Given the description of an element on the screen output the (x, y) to click on. 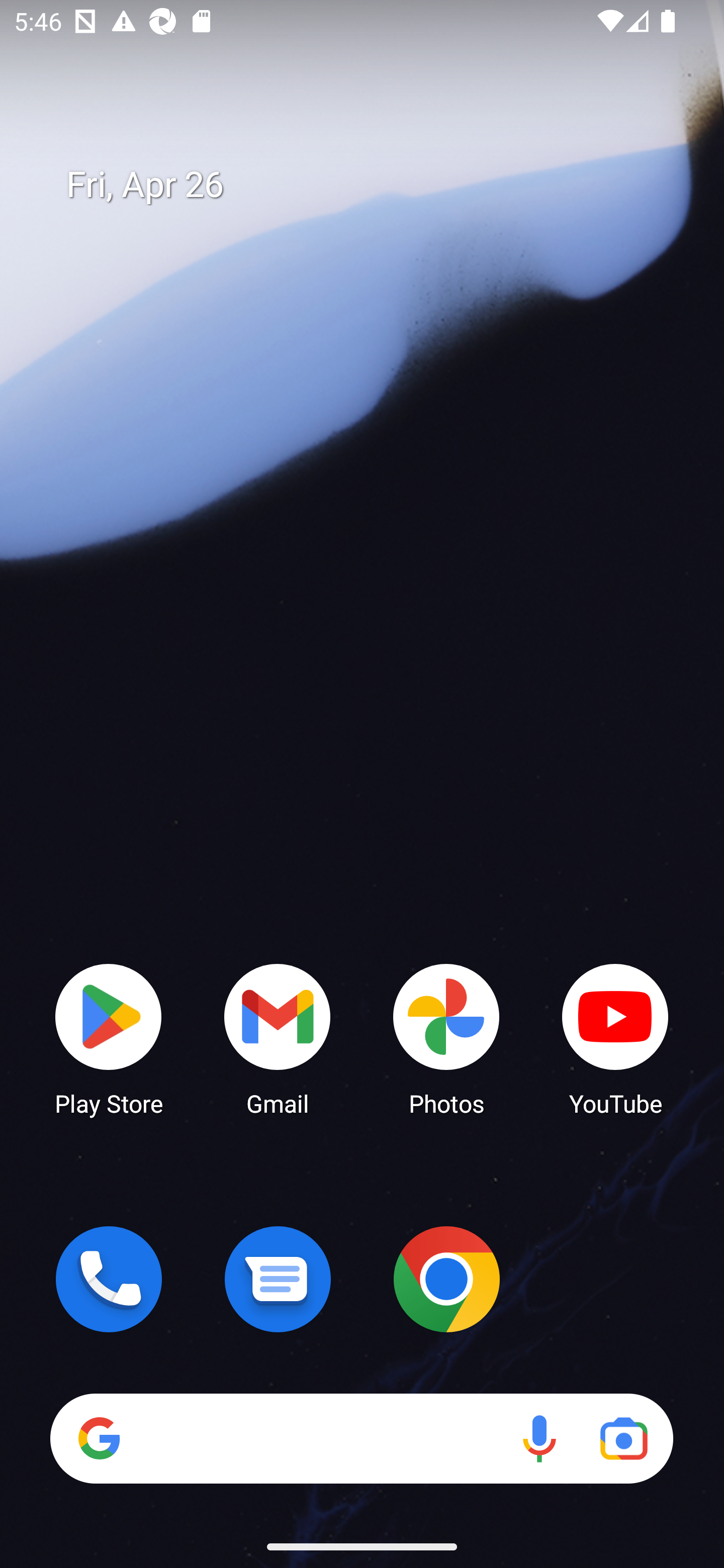
Fri, Apr 26 (375, 184)
Play Store (108, 1038)
Gmail (277, 1038)
Photos (445, 1038)
YouTube (615, 1038)
Phone (108, 1279)
Messages (277, 1279)
Chrome (446, 1279)
Search Voice search Google Lens (361, 1438)
Voice search (539, 1438)
Google Lens (623, 1438)
